Given the description of an element on the screen output the (x, y) to click on. 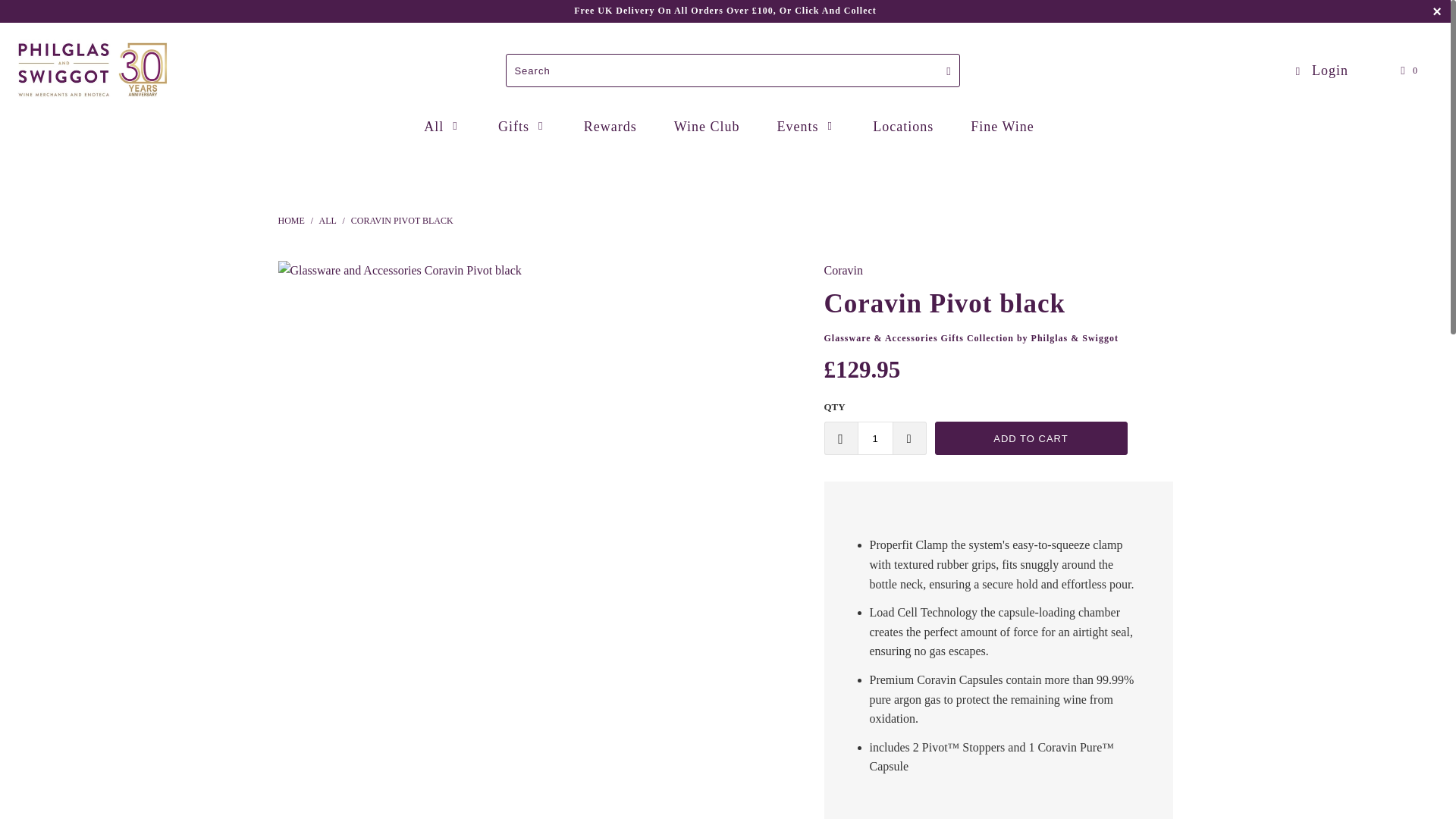
My Account  (1321, 70)
1 (874, 438)
Coravin (843, 269)
All (327, 220)
